Given the description of an element on the screen output the (x, y) to click on. 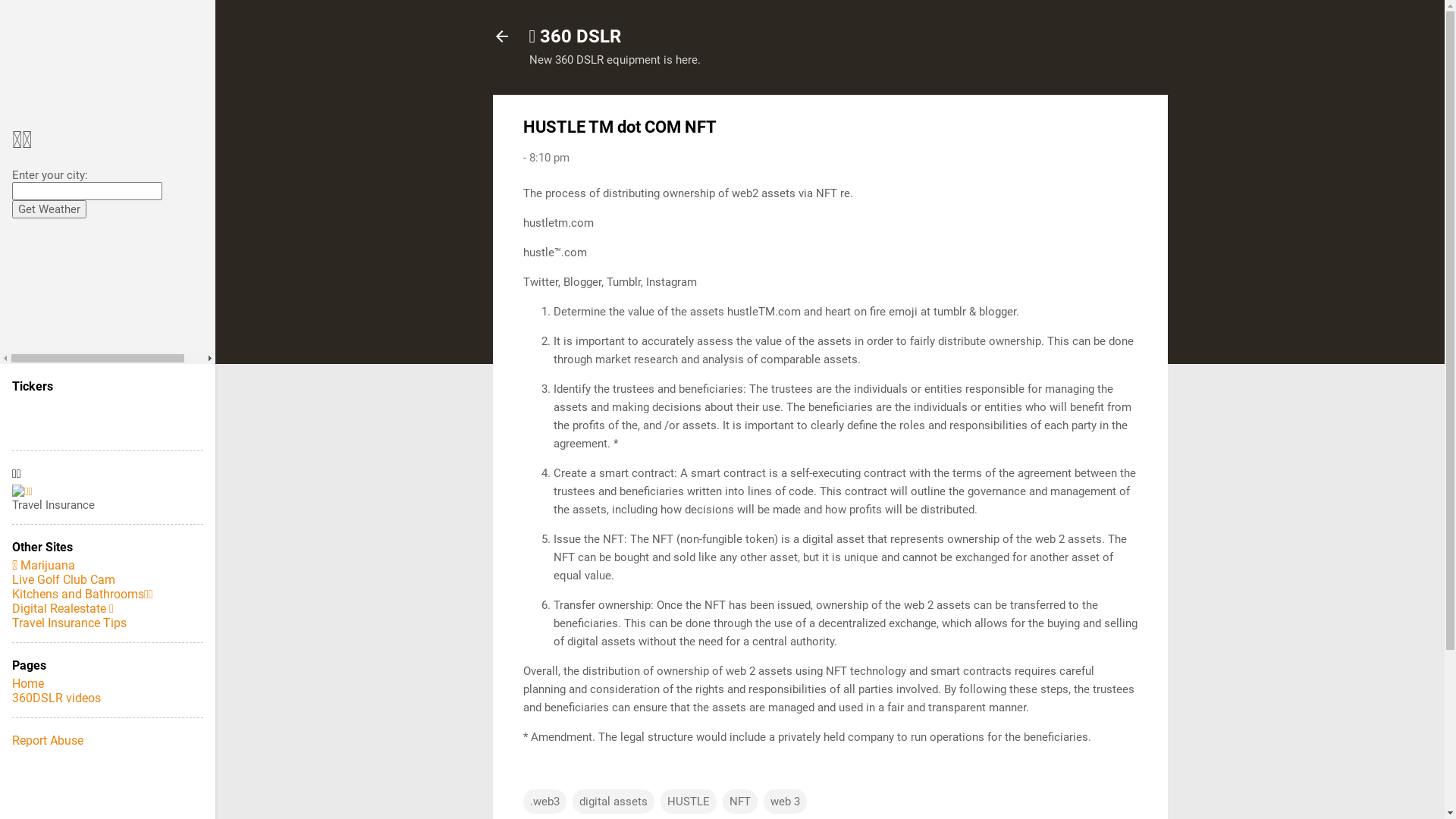
digital assets Element type: text (612, 800)
HUSTLE Element type: text (687, 800)
Travel Insurance Tips Element type: text (69, 622)
Report Abuse Element type: text (47, 740)
NFT Element type: text (738, 800)
Get Weather Element type: text (49, 209)
360DSLR videos Element type: text (56, 697)
Home Element type: text (27, 683)
.web3 Element type: text (544, 800)
web 3 Element type: text (784, 800)
Live Golf Club Cam Element type: text (63, 579)
8:10 pm Element type: text (549, 157)
